Given the description of an element on the screen output the (x, y) to click on. 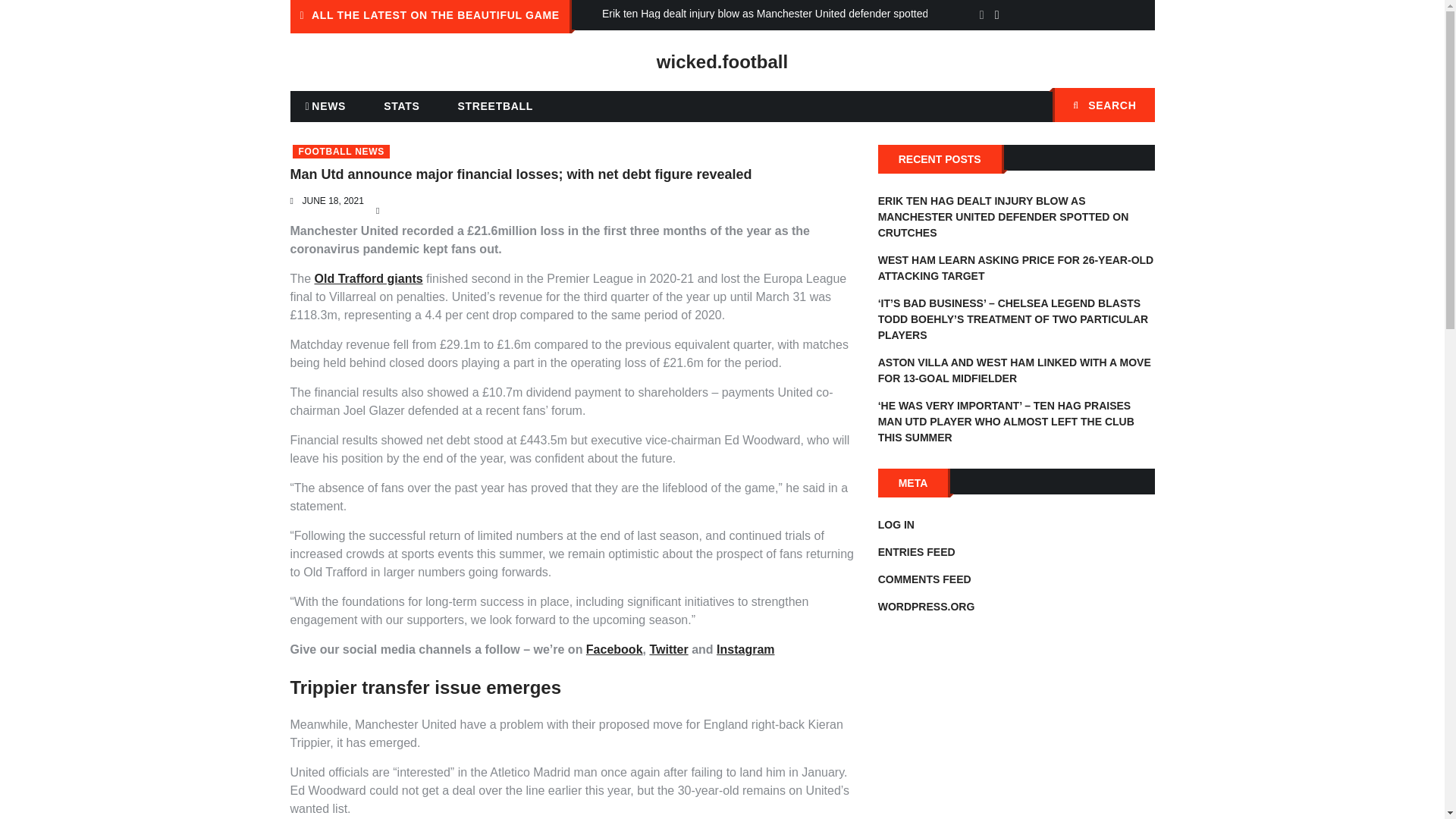
STREETBALL (495, 105)
wicked.football (721, 61)
Old Trafford giants (368, 278)
JUNE 18, 2021 (331, 200)
SEARCH (1103, 104)
Search (1135, 106)
NEWS (325, 106)
Instagram (745, 649)
Search (1135, 106)
Twitter (668, 649)
